Given the description of an element on the screen output the (x, y) to click on. 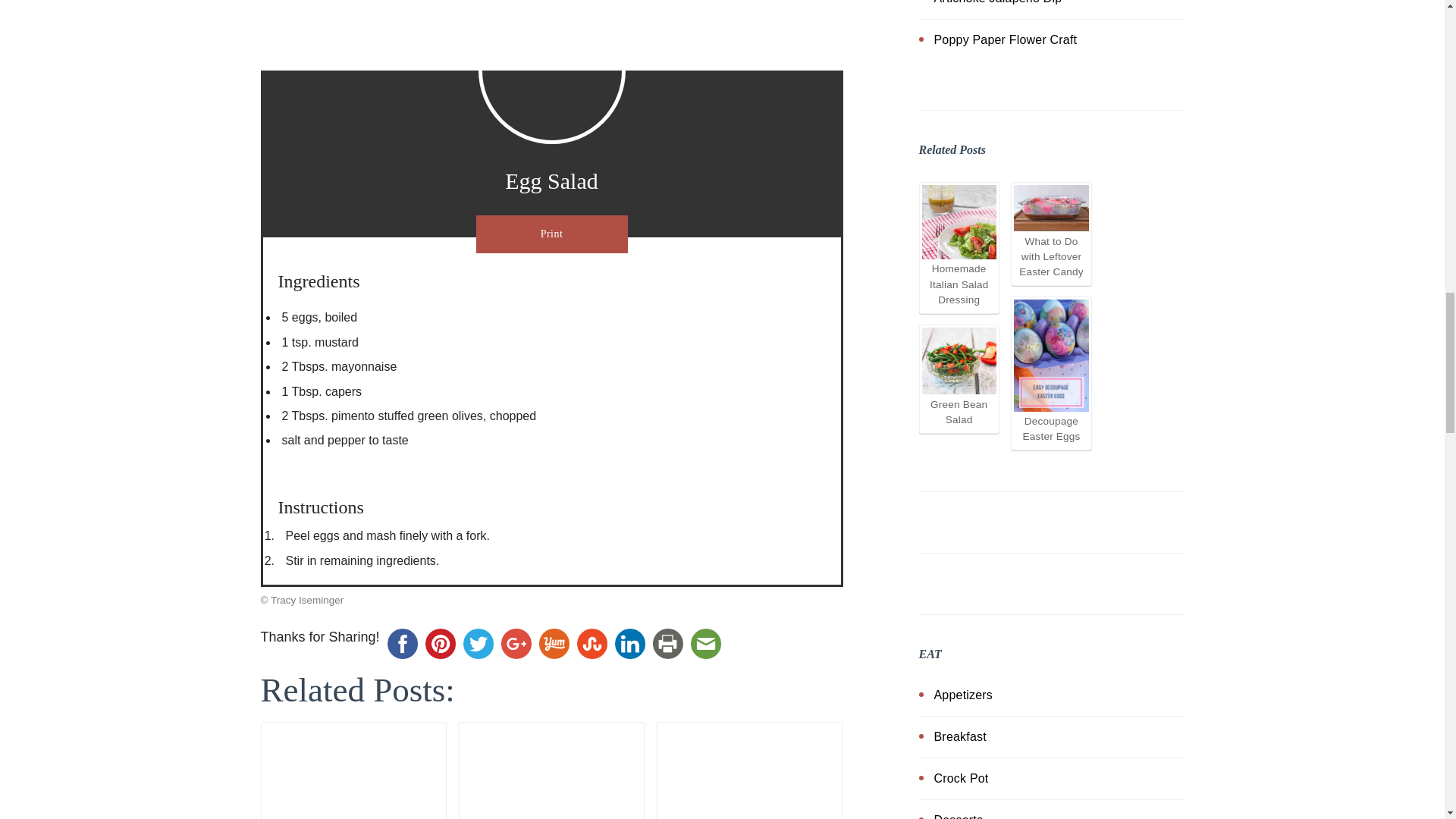
Twitter (478, 643)
Eating for Your Health:  Eggs (353, 771)
Facebook (403, 643)
Pinterest (441, 643)
LinkedIn (630, 643)
Print (668, 643)
StumbleUpon (592, 643)
Crafting with Plastic Easter Eggs (551, 771)
Yummly (554, 643)
Email (706, 643)
